Given the description of an element on the screen output the (x, y) to click on. 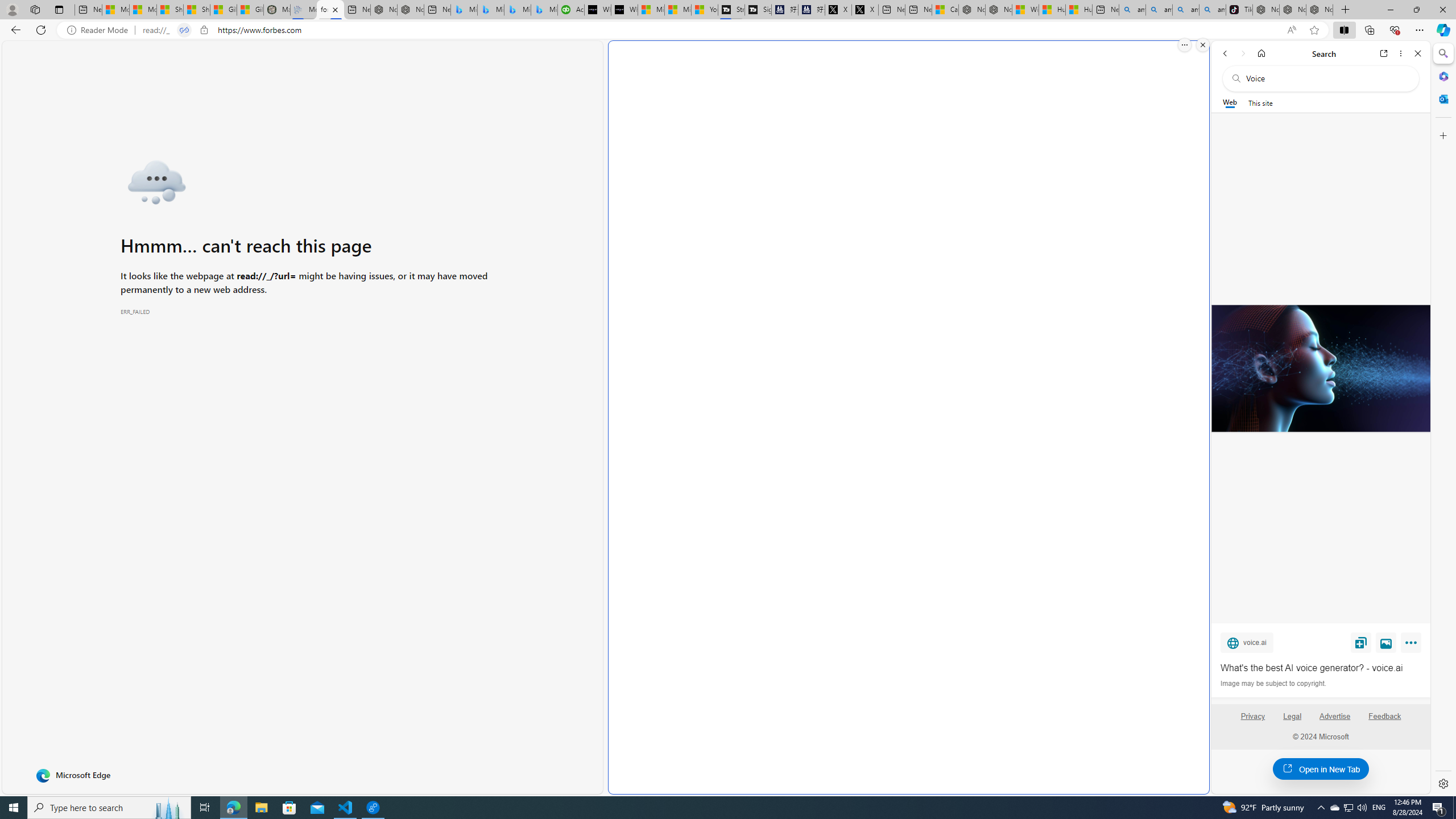
Image may be subject to copyright. (1273, 682)
Side bar (1443, 418)
Forward (1242, 53)
Accounting Software for Accountants, CPAs and Bookkeepers (571, 9)
Nordace - #1 Japanese Best-Seller - Siena Smart Backpack (411, 9)
Tabs in split screen (184, 29)
